Given the description of an element on the screen output the (x, y) to click on. 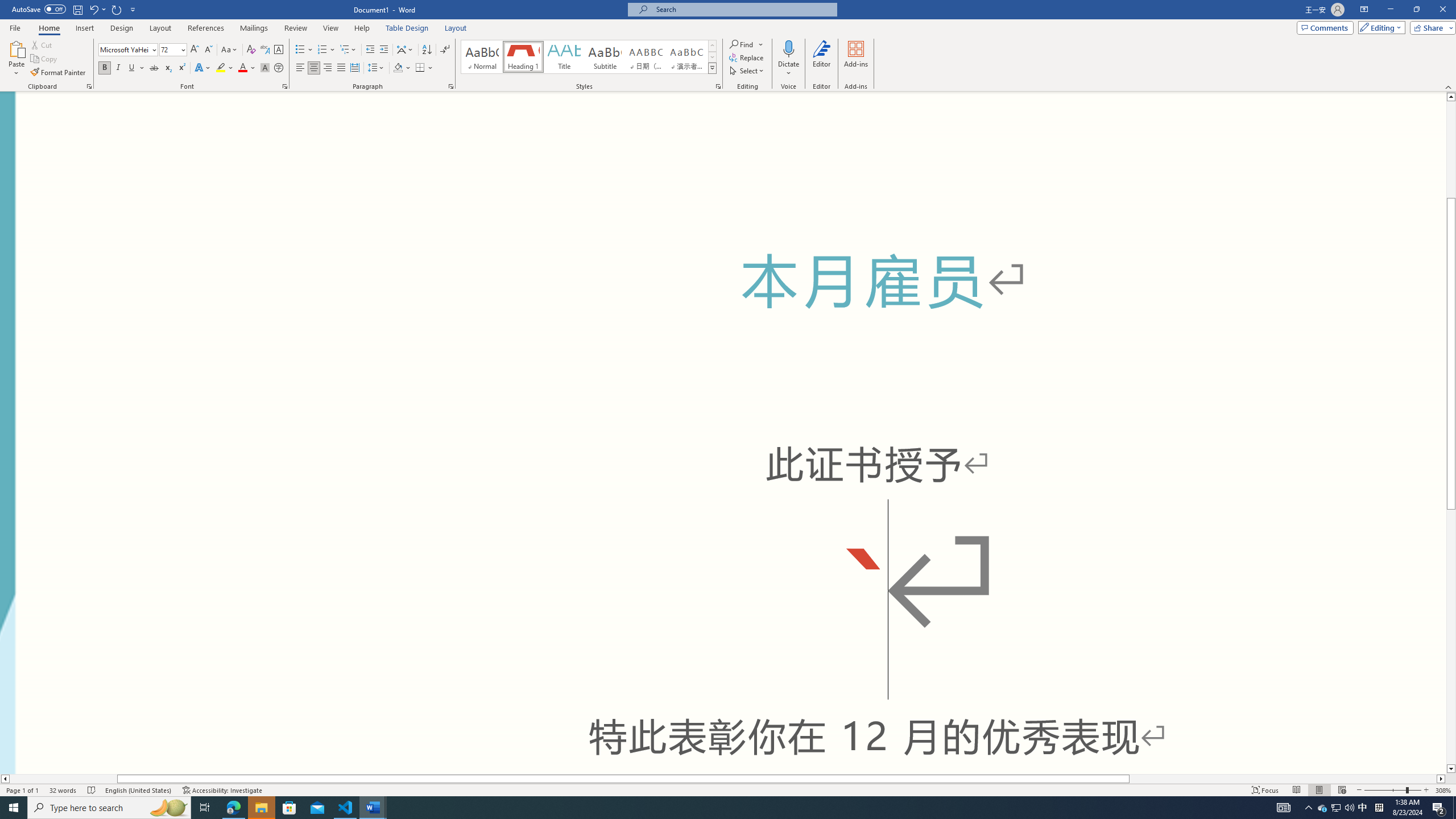
Undo Grow Font (96, 9)
Replace... (747, 56)
Change Case (229, 49)
Page up (1450, 149)
Font (124, 49)
Zoom In (1426, 790)
Text Effects and Typography (202, 67)
References (205, 28)
Undo Grow Font (92, 9)
Show/Hide Editing Marks (444, 49)
Title (564, 56)
Enclose Characters... (278, 67)
Styles... (717, 85)
Repeat Doc Close (117, 9)
